Given the description of an element on the screen output the (x, y) to click on. 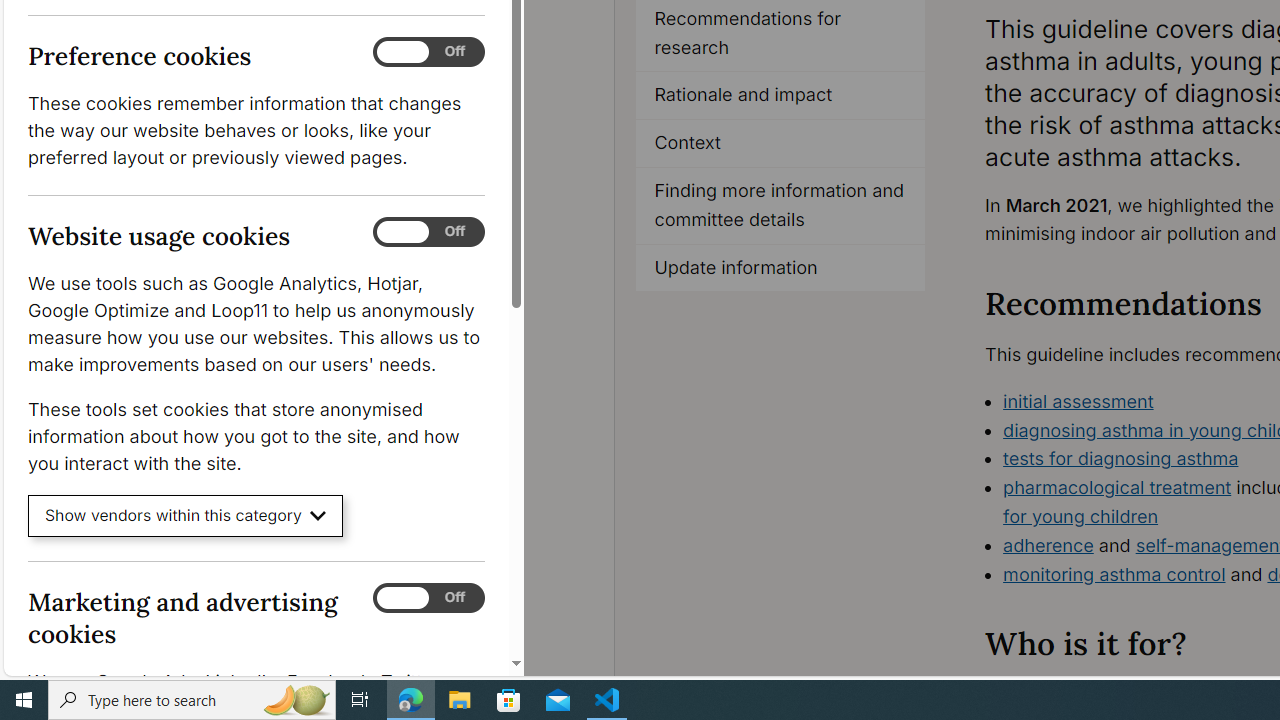
Context (781, 143)
monitoring asthma control (1114, 573)
Finding more information and committee details (781, 205)
Website usage cookies (429, 232)
pharmacological treatment (1117, 487)
Finding more information and committee details (780, 205)
initial assessment (1078, 400)
Show vendors within this category (185, 516)
tests for diagnosing asthma (1121, 458)
Rationale and impact (781, 96)
Update information (780, 268)
Rationale and impact (780, 96)
Preference cookies (429, 52)
Context (780, 143)
Update information (781, 268)
